Given the description of an element on the screen output the (x, y) to click on. 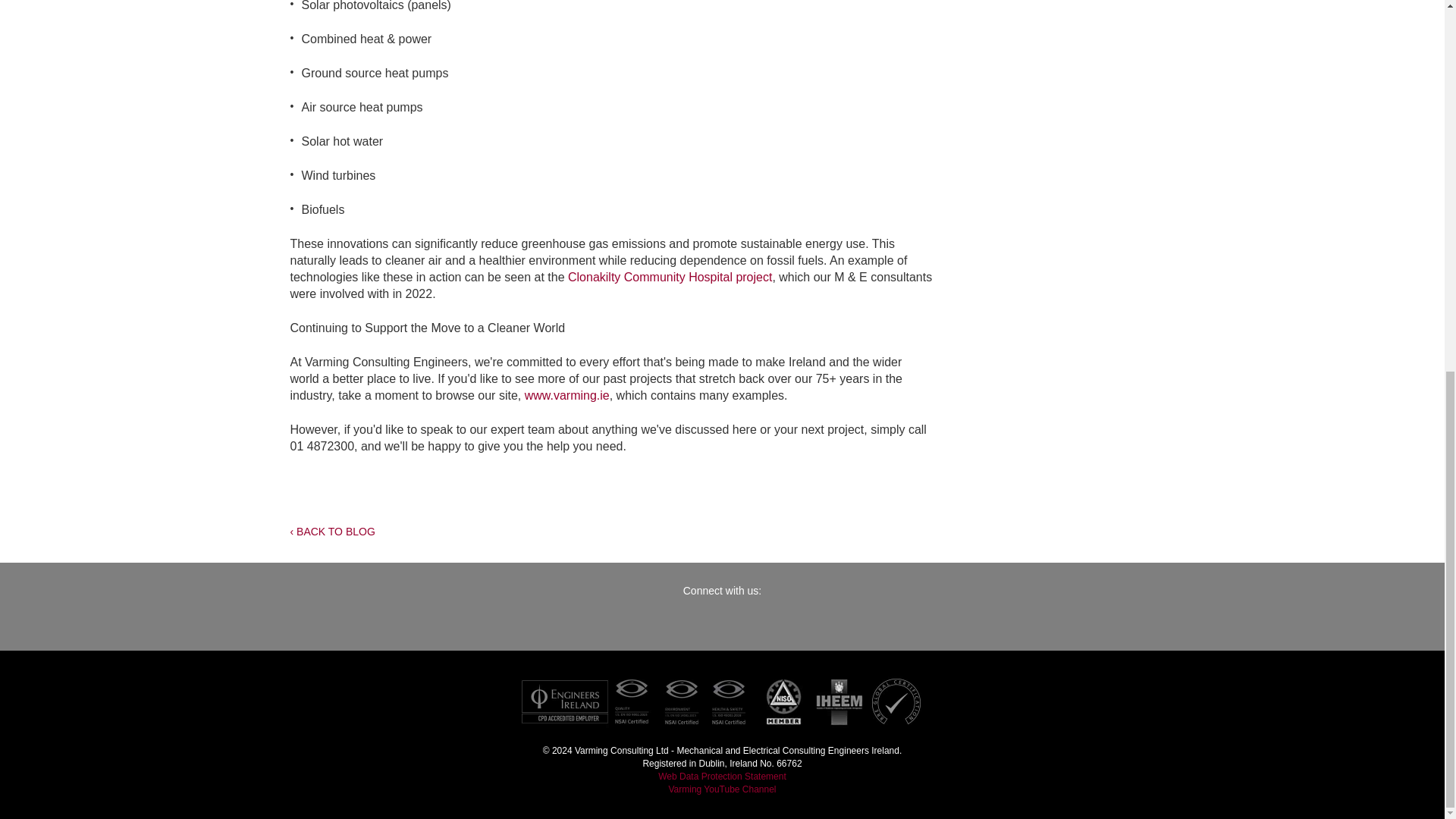
Certifications (721, 701)
Clonakilty Community Hospital project (669, 277)
Varming YouTube Channel (722, 788)
www.varming.ie (567, 395)
Web Data Protection Statement (722, 776)
